Given the description of an element on the screen output the (x, y) to click on. 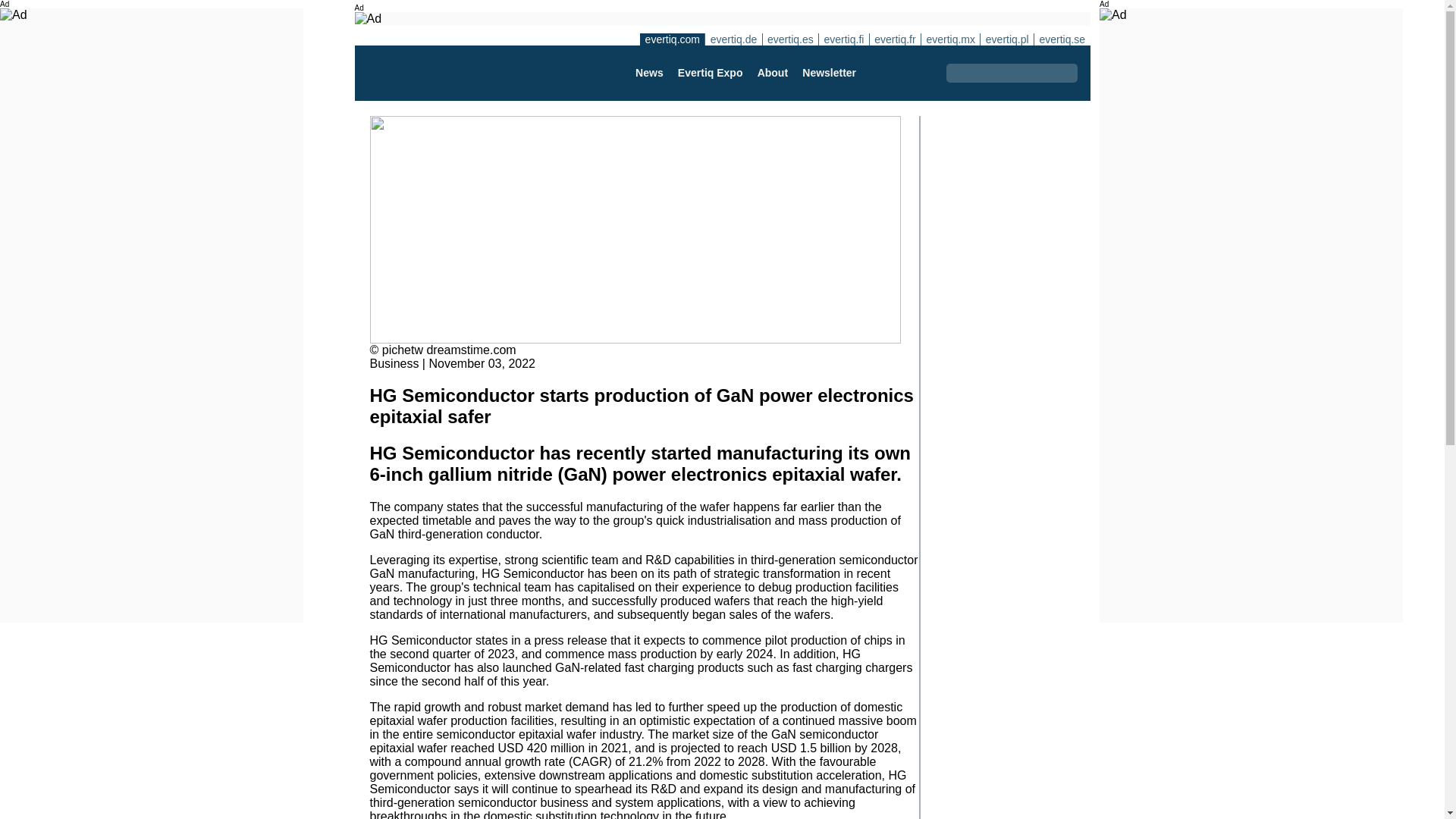
Evertiq Expo (709, 72)
About (771, 72)
evertiq.fr (894, 39)
evertiq.pl (1006, 39)
News (648, 72)
Evertiq AB (442, 72)
evertiq.de (732, 39)
evertiq.fi (843, 39)
evertiq.mx (949, 39)
Newsletter (828, 72)
